Given the description of an element on the screen output the (x, y) to click on. 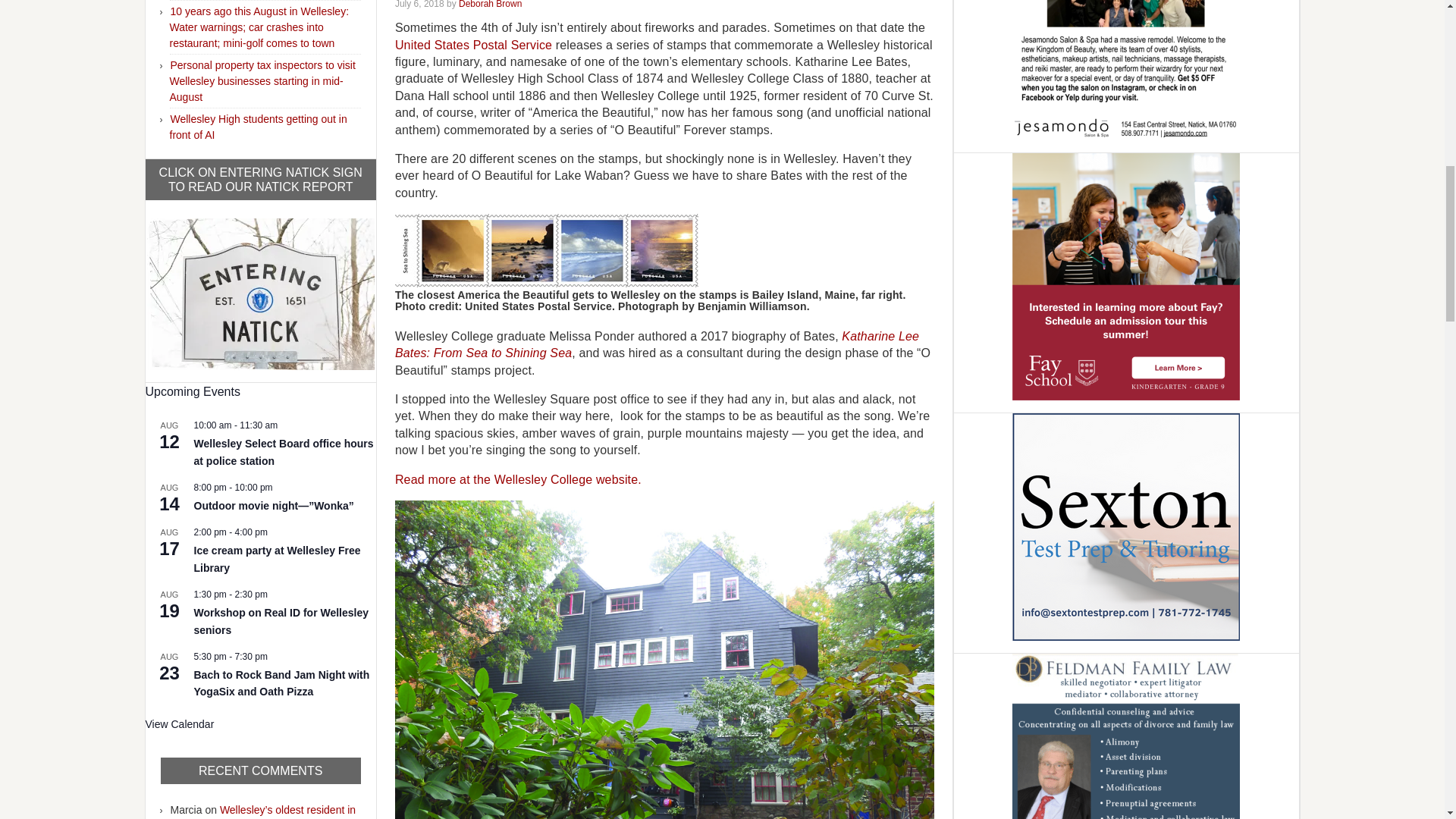
View more events. (179, 724)
Read more at the Wellesley College website. (518, 479)
United States Postal Service (472, 44)
Bach to Rock Band Jam Night with YogaSix and Oath Pizza (281, 684)
Wellesley High students getting out in front of AI (258, 126)
Wellesley Select Board office hours at police station (283, 452)
Katharine Lee Bates: From Sea to Shining Sea (656, 344)
Click on Entering Natick sign to read our Natick Report (260, 291)
